Given the description of an element on the screen output the (x, y) to click on. 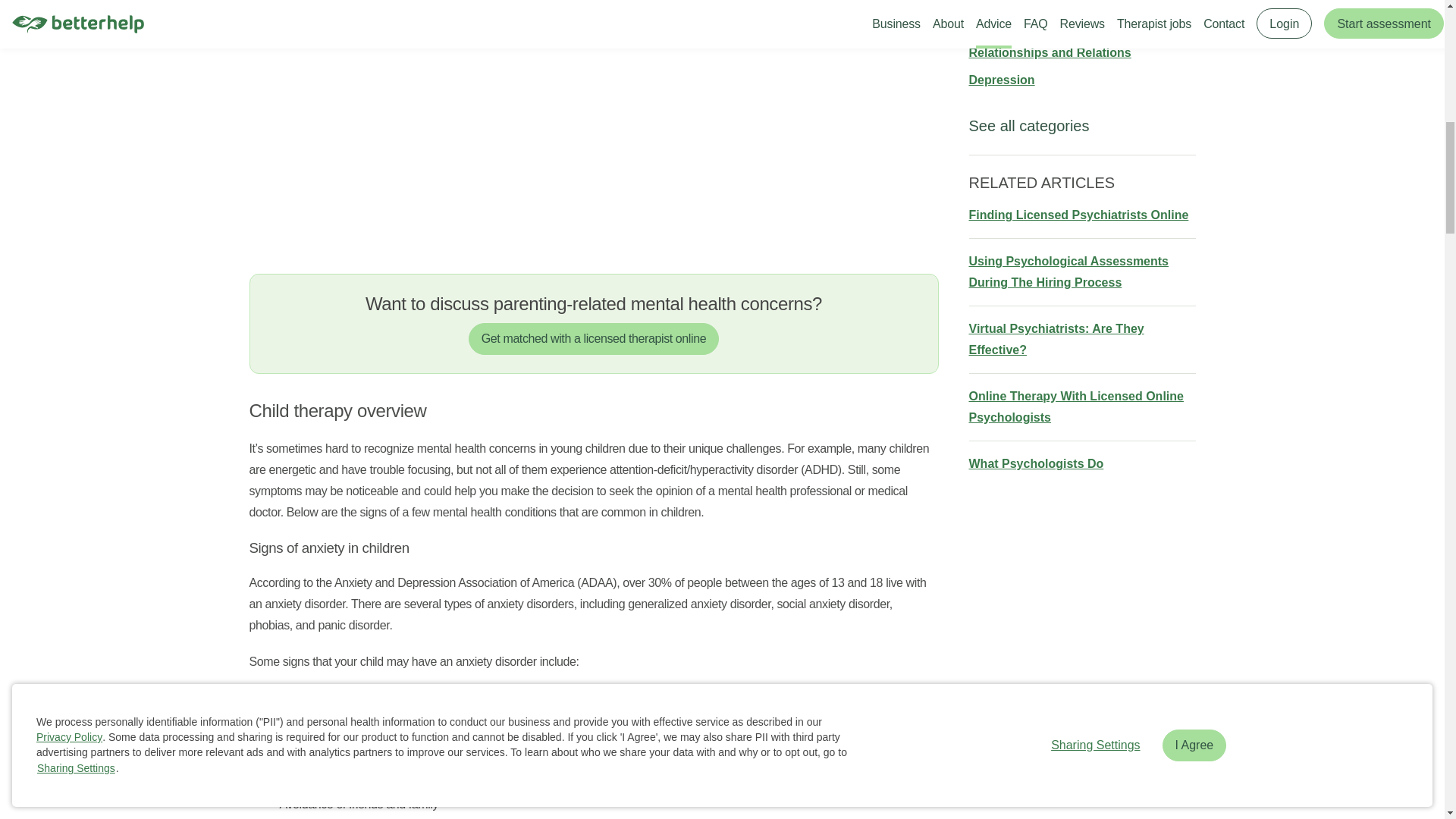
Get matched with a licensed therapist online (593, 338)
Therapy (992, 24)
General (991, 2)
